Given the description of an element on the screen output the (x, y) to click on. 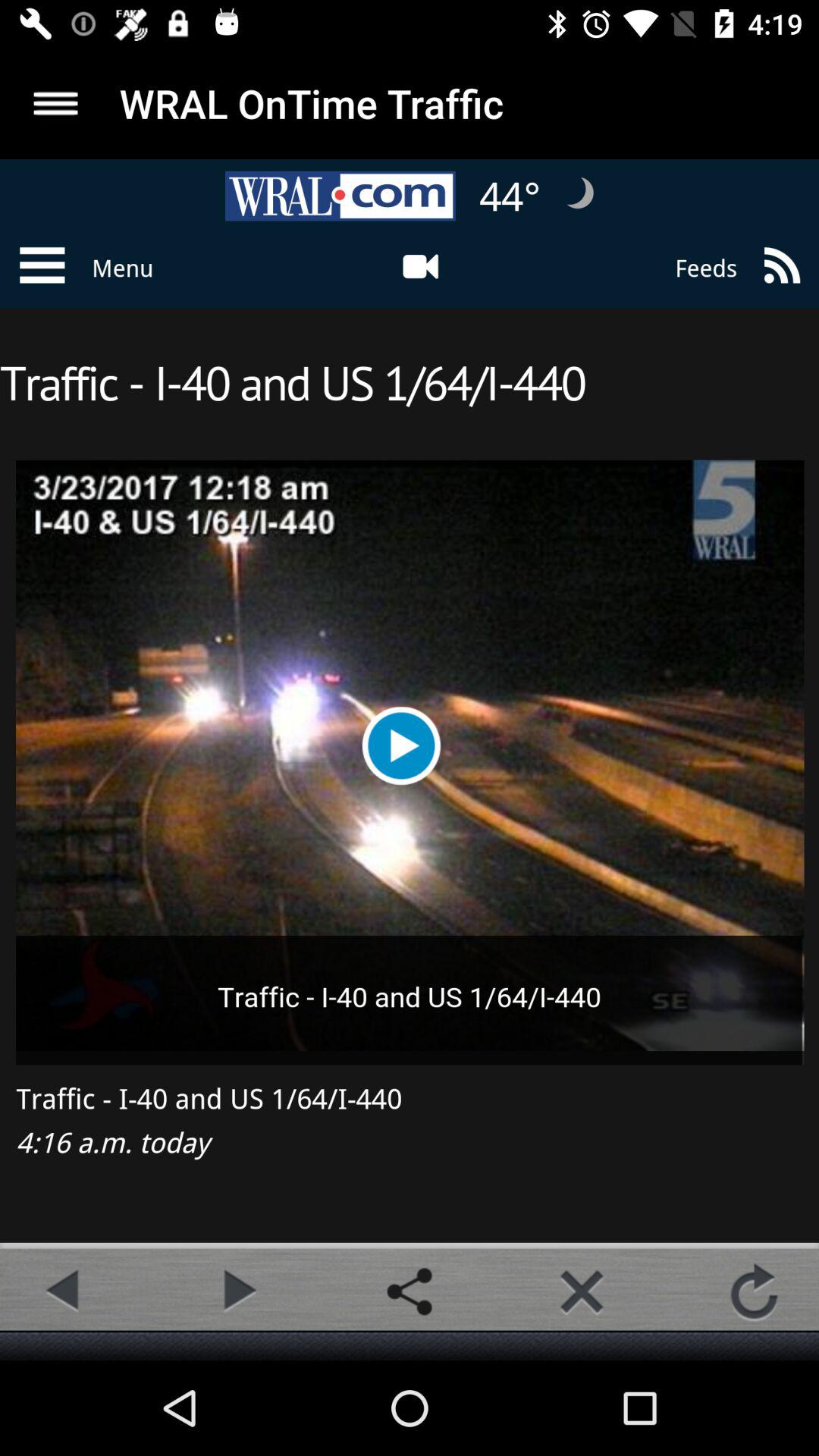
replay option (754, 1291)
